Given the description of an element on the screen output the (x, y) to click on. 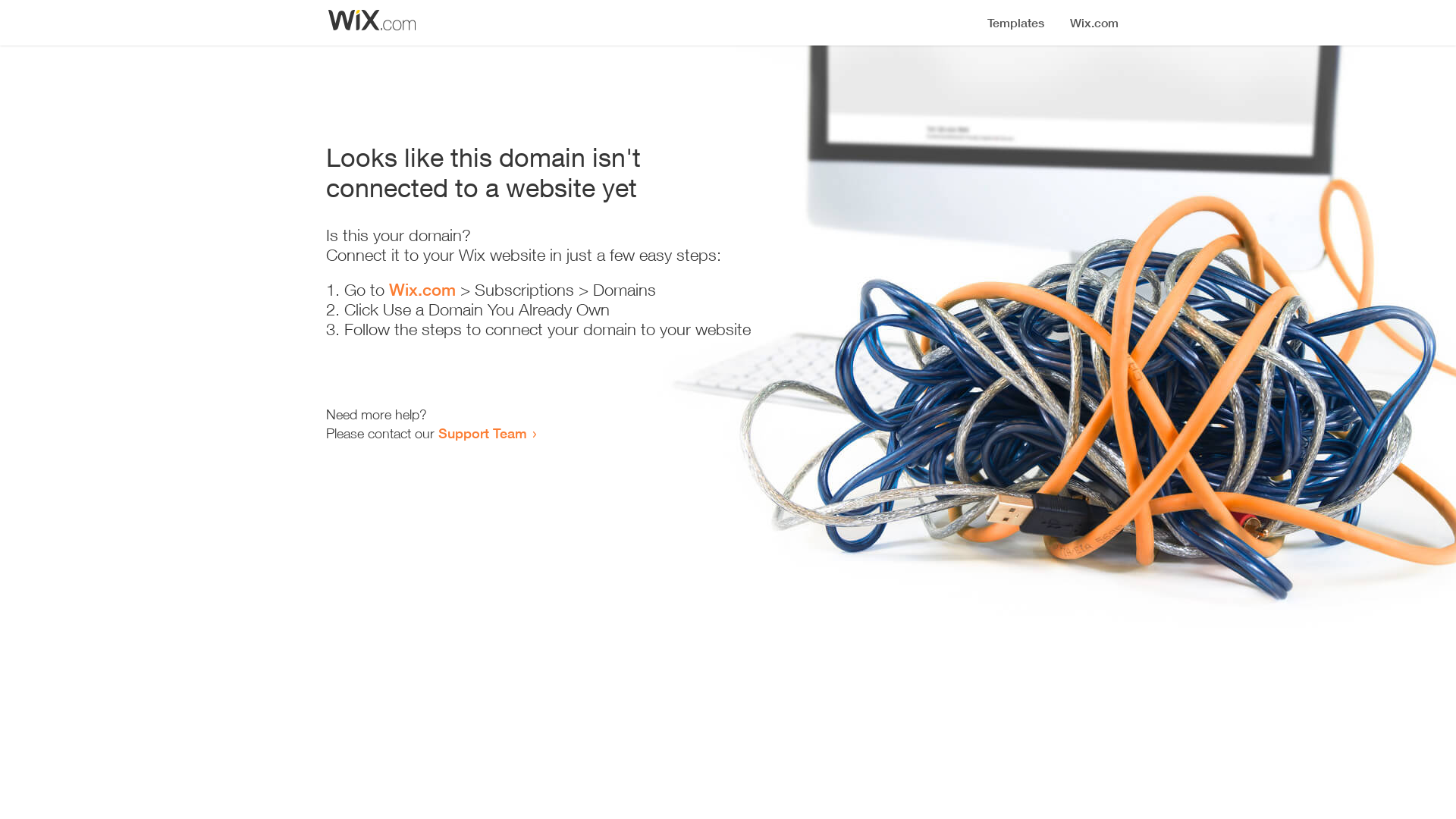
Support Team Element type: text (482, 432)
Wix.com Element type: text (422, 289)
